Given the description of an element on the screen output the (x, y) to click on. 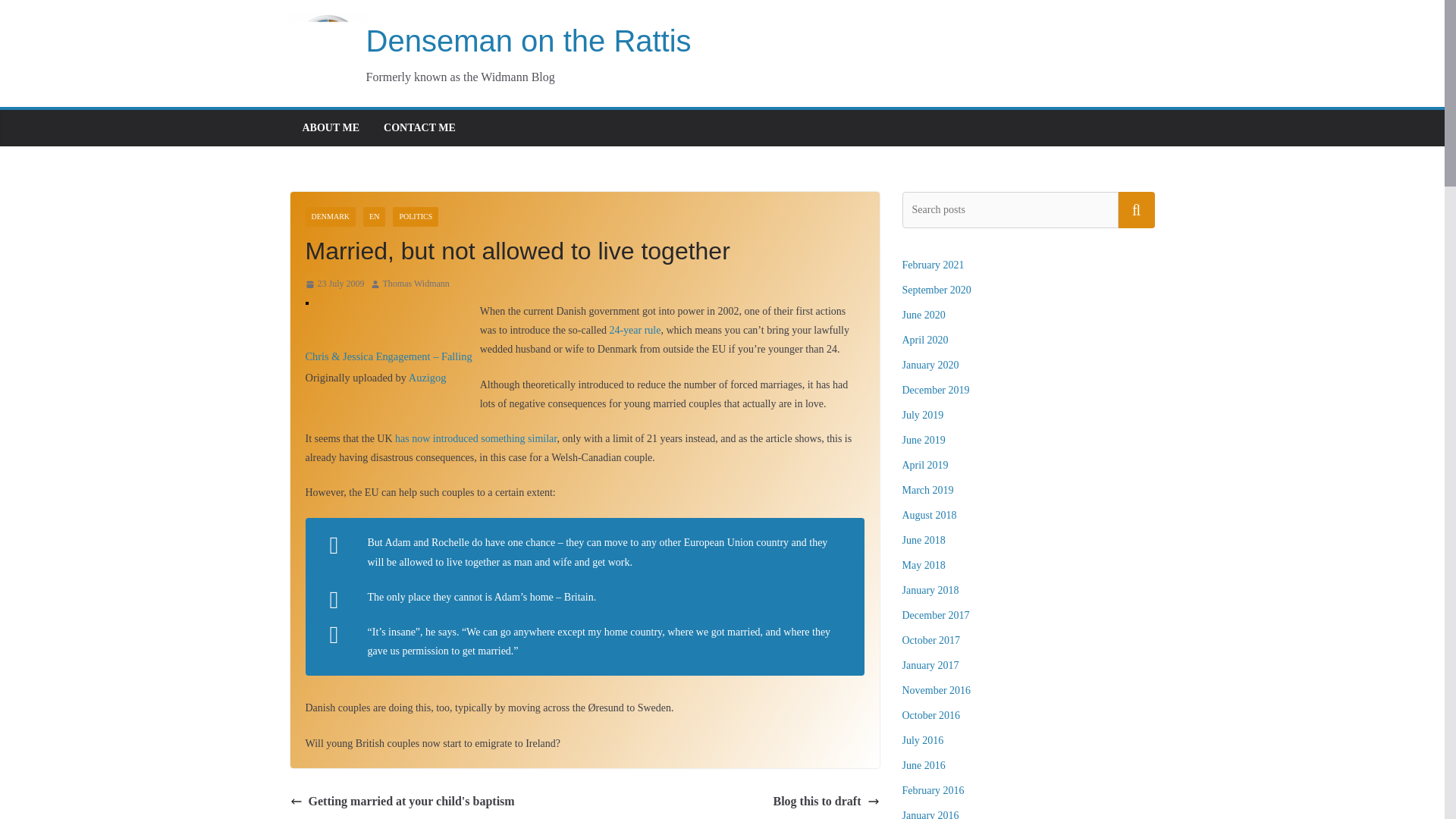
November 2016 (936, 690)
October 2017 (931, 640)
Thomas Widmann (415, 284)
23:54 (334, 284)
June 2020 (923, 315)
March 2019 (927, 490)
August 2018 (929, 514)
has now introduced something similar (475, 438)
April 2019 (925, 464)
Getting married at your child's baptism (401, 802)
